Given the description of an element on the screen output the (x, y) to click on. 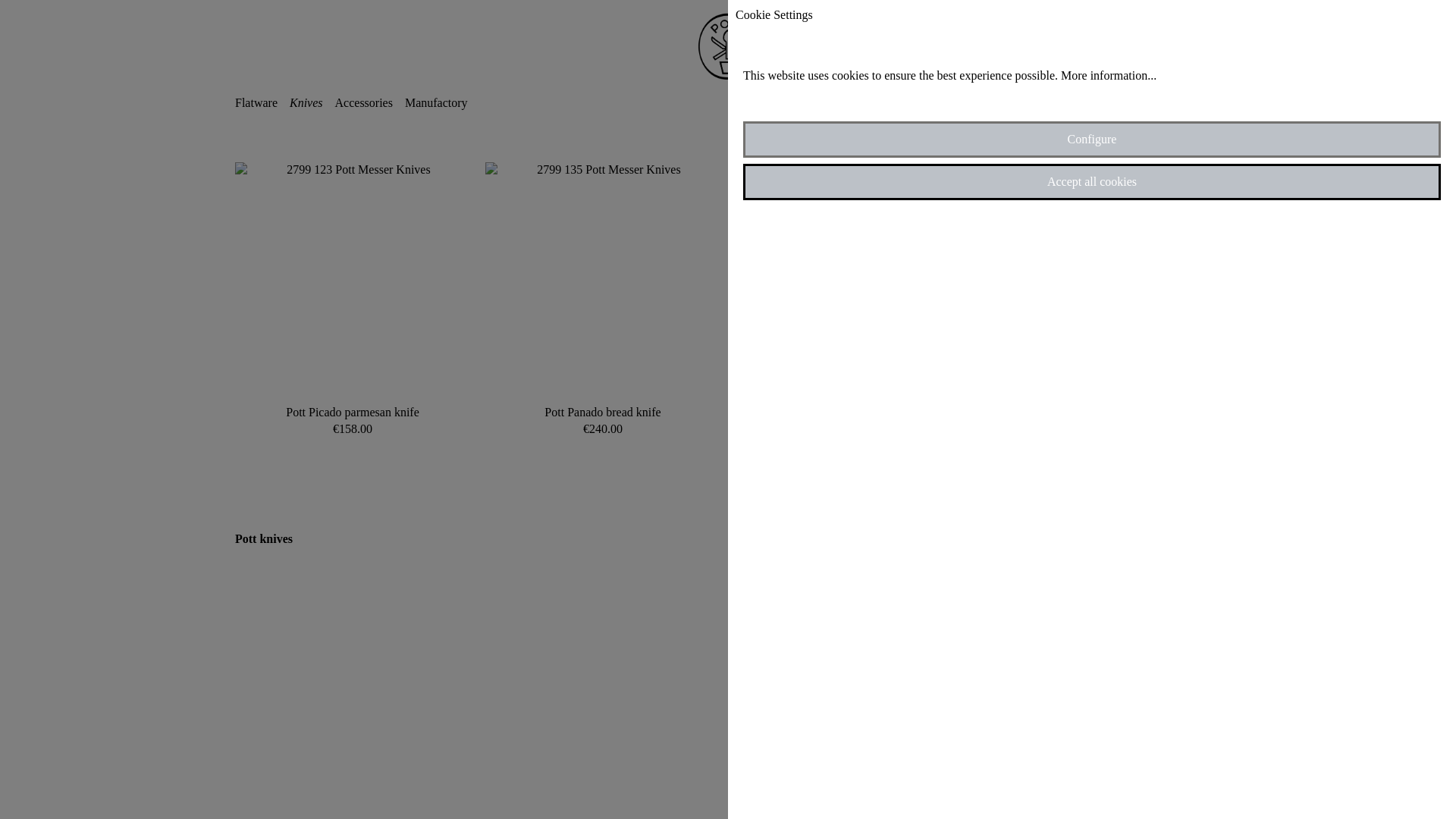
Accessories (369, 102)
Search (973, 102)
2fbb5fe2e29a4d70aa5854ce7ce3e20b (933, 99)
Go to homepage (727, 45)
Manufactory (442, 102)
Flatware (261, 102)
Flatware (261, 102)
Store Locator (1035, 102)
Shopping cart (1187, 102)
Knives (311, 102)
